Given the description of an element on the screen output the (x, y) to click on. 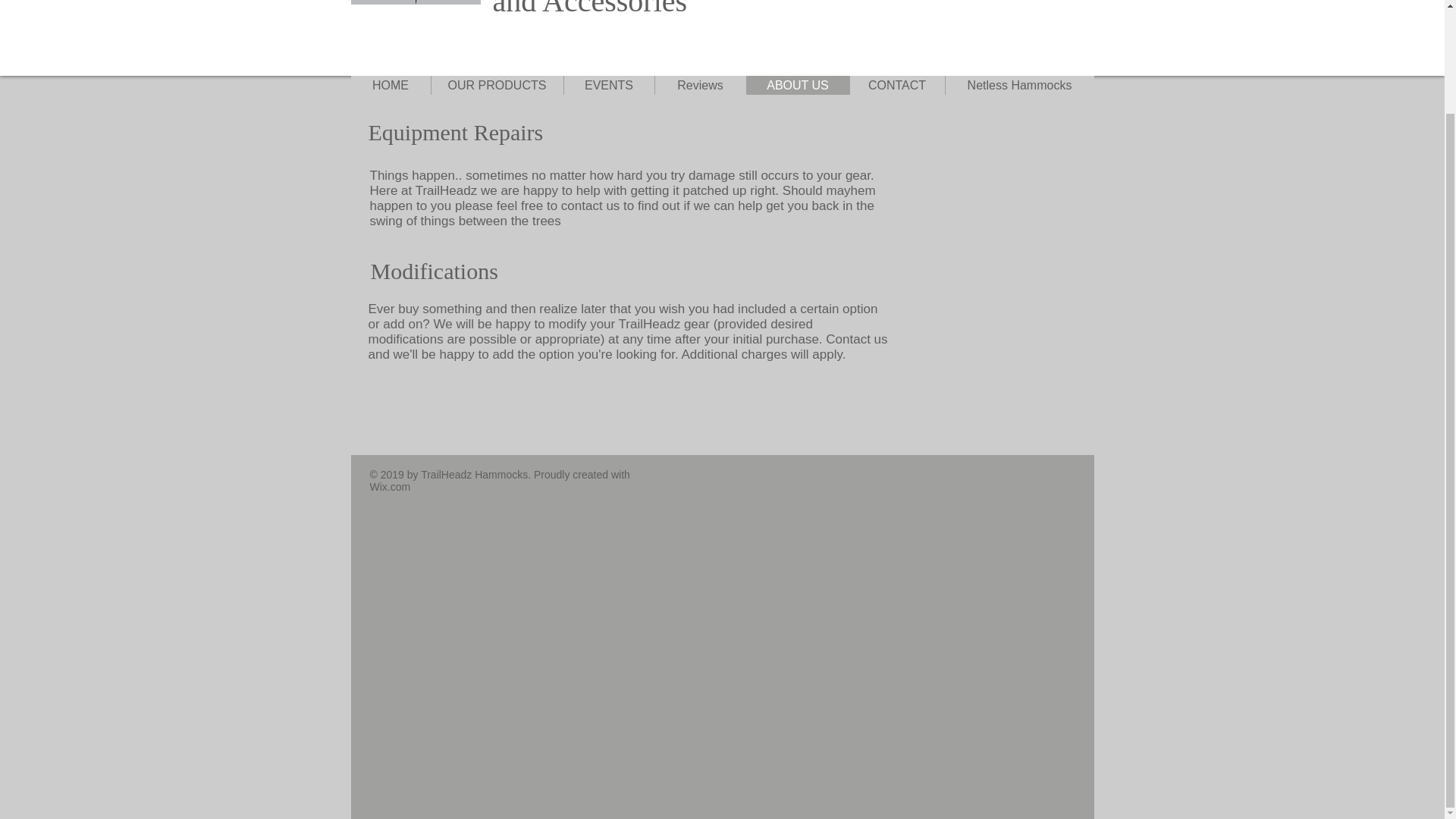
Reviews (633, 9)
CONTACT (699, 85)
EVENTS (896, 85)
Wix.com (607, 85)
OUR PRODUCTS (389, 486)
Netless Hammocks (496, 85)
ABOUT US (1019, 85)
HOME (796, 85)
